Given the description of an element on the screen output the (x, y) to click on. 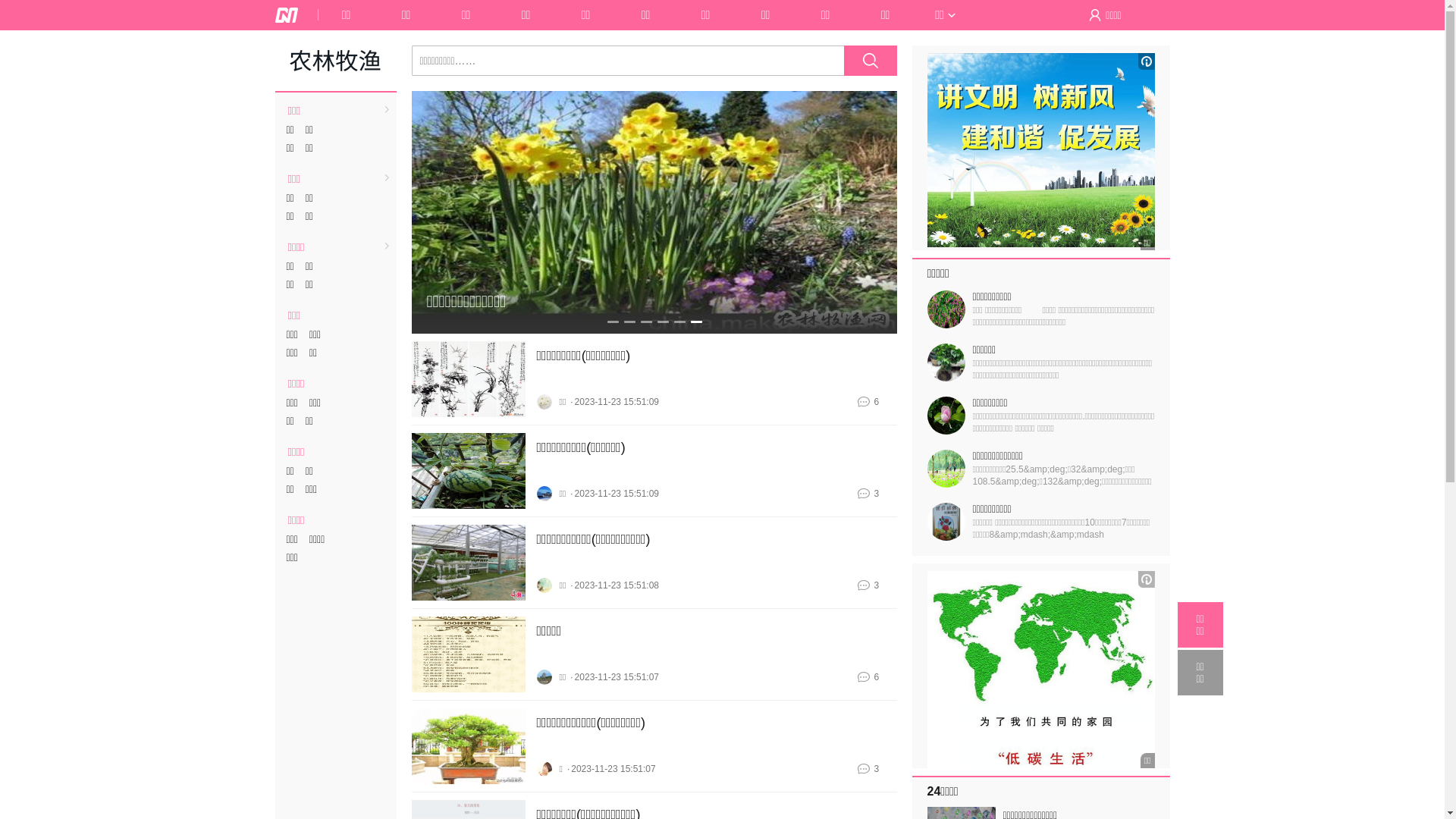
3 Element type: text (876, 585)
6 Element type: text (876, 401)
3 Element type: text (876, 768)
6 Element type: text (876, 676)
3 Element type: text (876, 493)
